Given the description of an element on the screen output the (x, y) to click on. 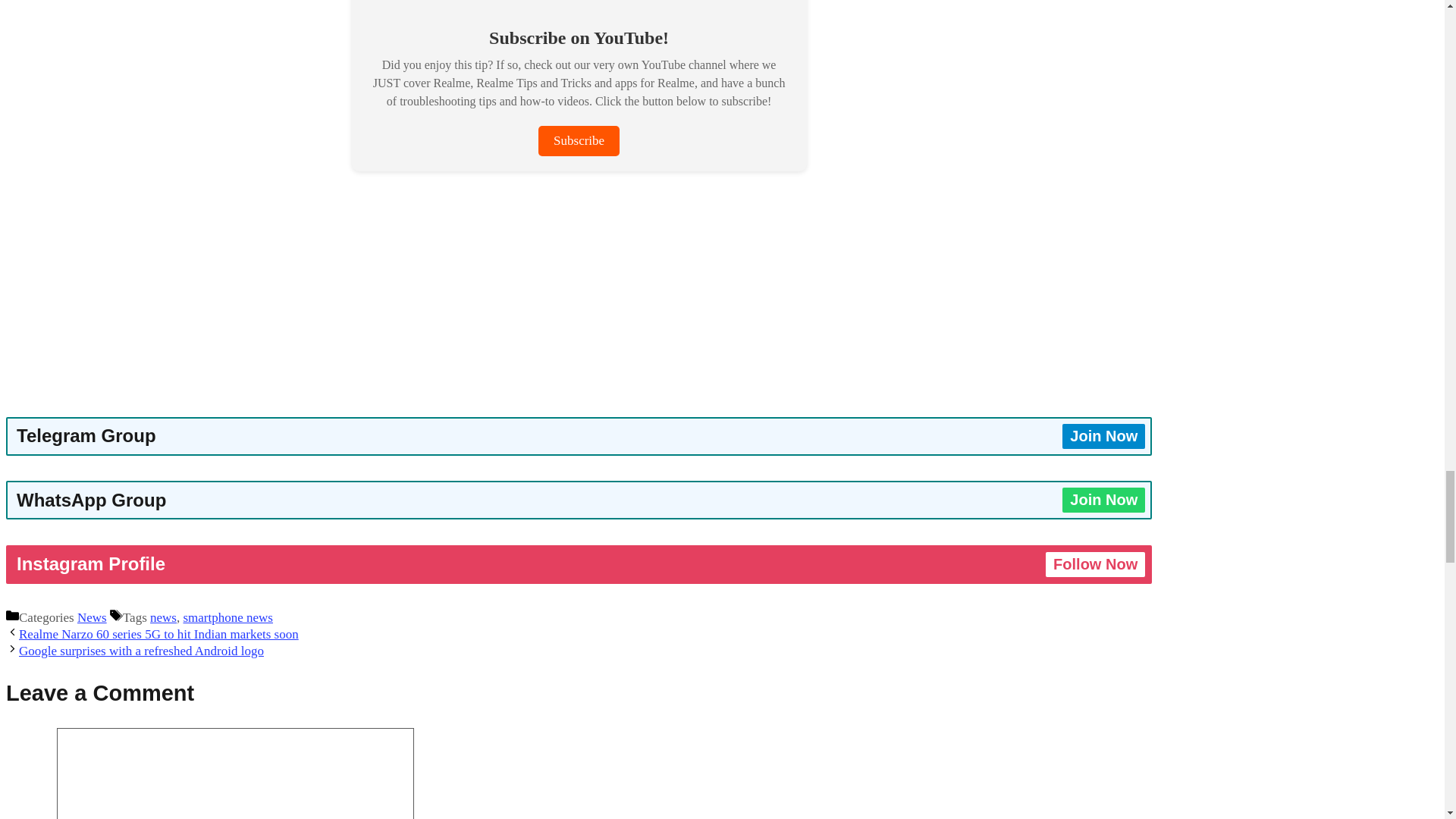
Follow Now (1094, 564)
news (162, 617)
Google surprises with a refreshed Android logo (140, 650)
Subscribe (579, 141)
News (91, 617)
smartphone news (228, 617)
Realme Narzo 60 series 5G to hit Indian markets soon (158, 634)
Join Now (1103, 436)
Join Now (1103, 499)
